Given the description of an element on the screen output the (x, y) to click on. 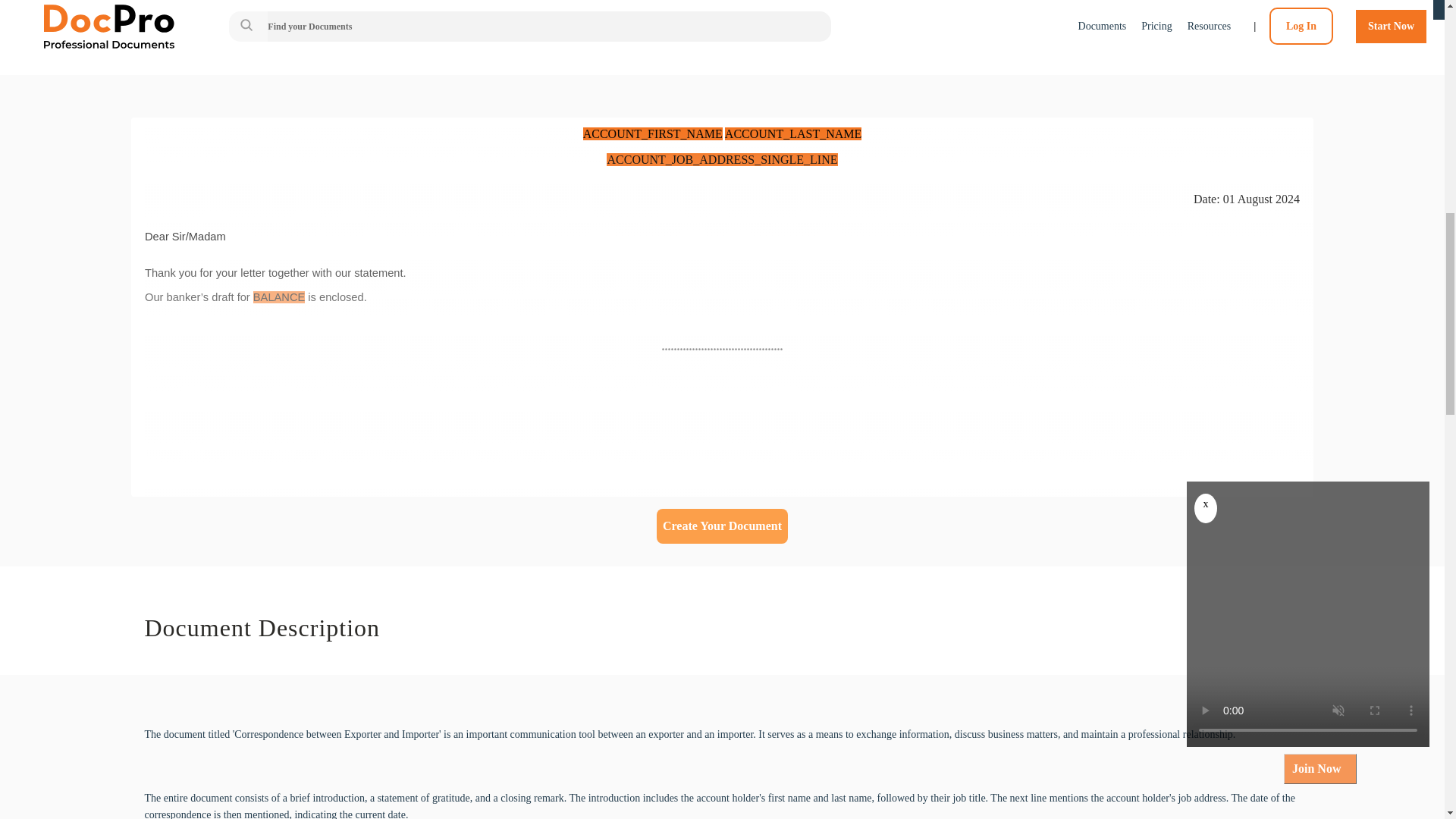
Create Your Document (721, 525)
